Given the description of an element on the screen output the (x, y) to click on. 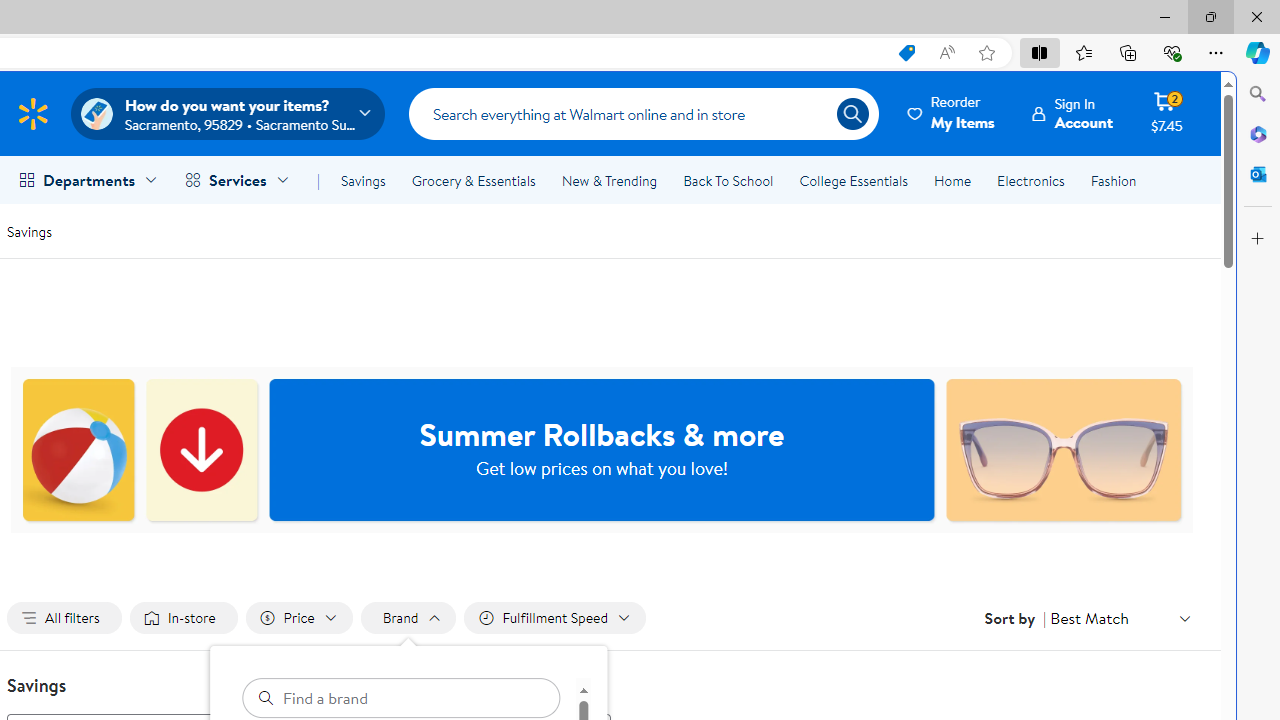
Grocery & Essentials (473, 180)
Class: ld ld-ChevronDown pa0 ml6 (1184, 618)
Sign InAccount (1072, 113)
Walmart Homepage (32, 113)
Filter by In-store (183, 618)
New & Trending (608, 180)
Electronics (1030, 180)
